Given the description of an element on the screen output the (x, y) to click on. 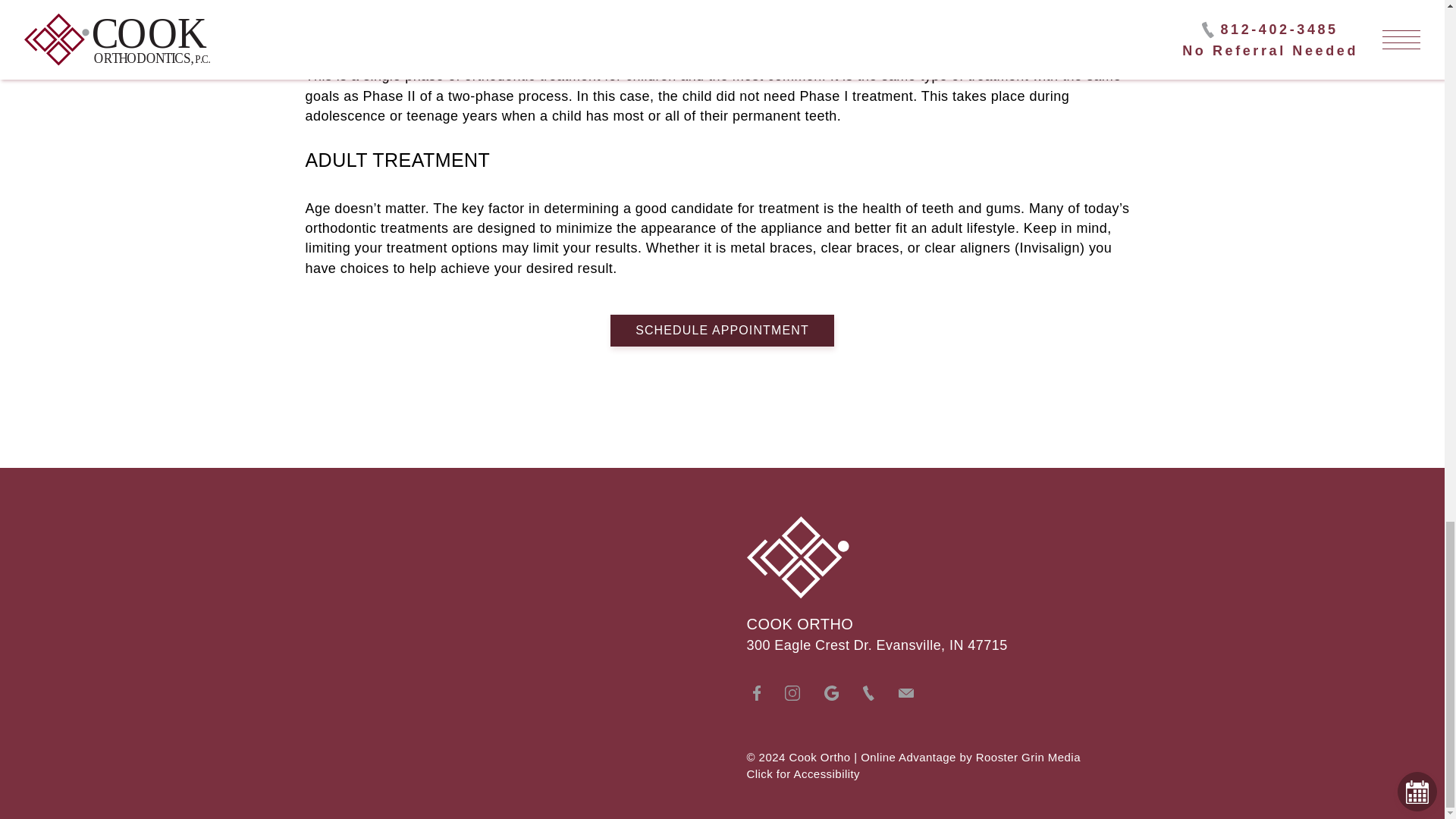
mail (906, 693)
Click for Accessibility (1083, 773)
Online Advantage by Rooster Grin Media (970, 757)
300 Eagle Crest Dr. Evansville, IN 47715 (876, 645)
instagram (791, 693)
SCHEDULE APPOINTMENT (722, 329)
google (831, 693)
